Given the description of an element on the screen output the (x, y) to click on. 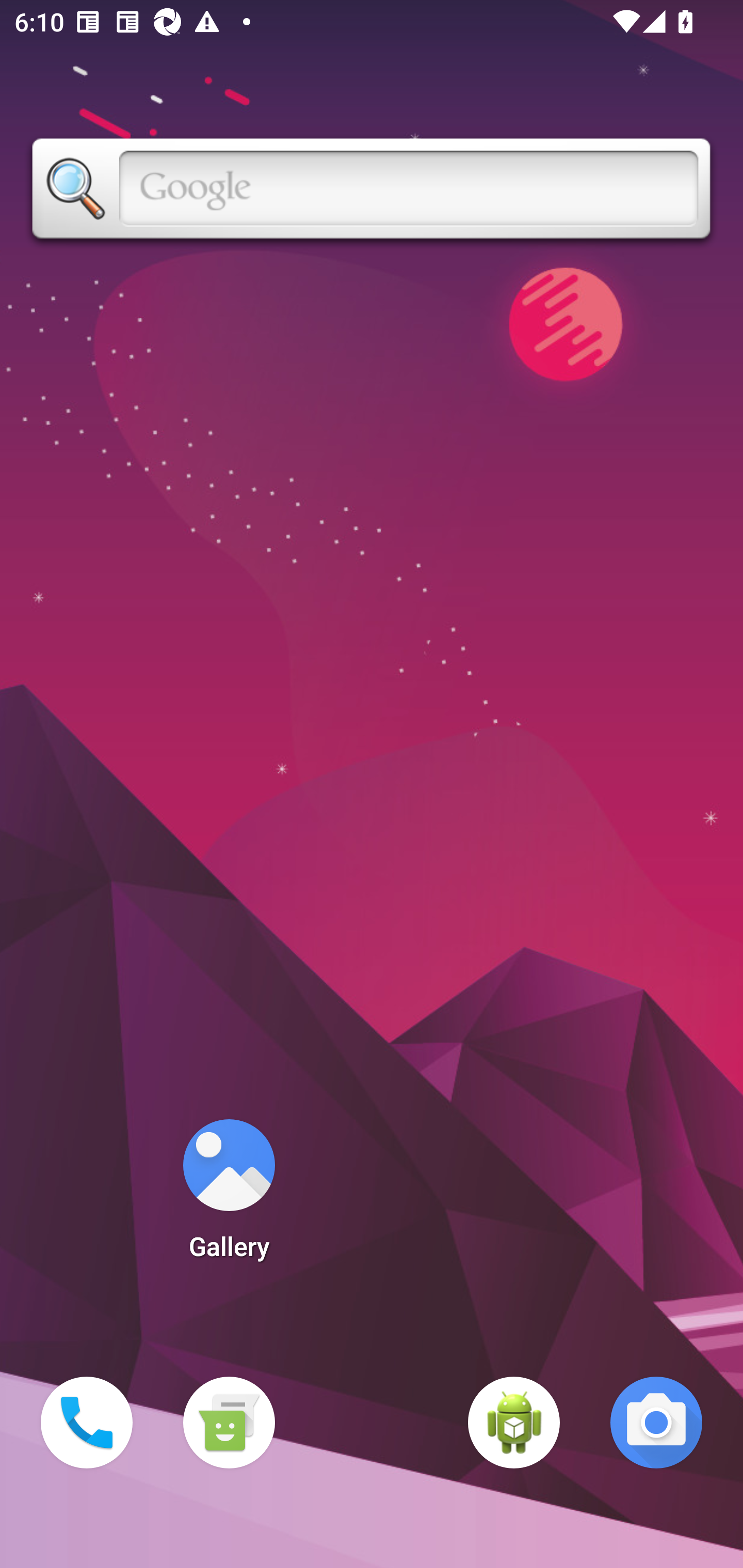
Gallery (228, 1195)
Phone (86, 1422)
Messaging (228, 1422)
WebView Browser Tester (513, 1422)
Camera (656, 1422)
